Given the description of an element on the screen output the (x, y) to click on. 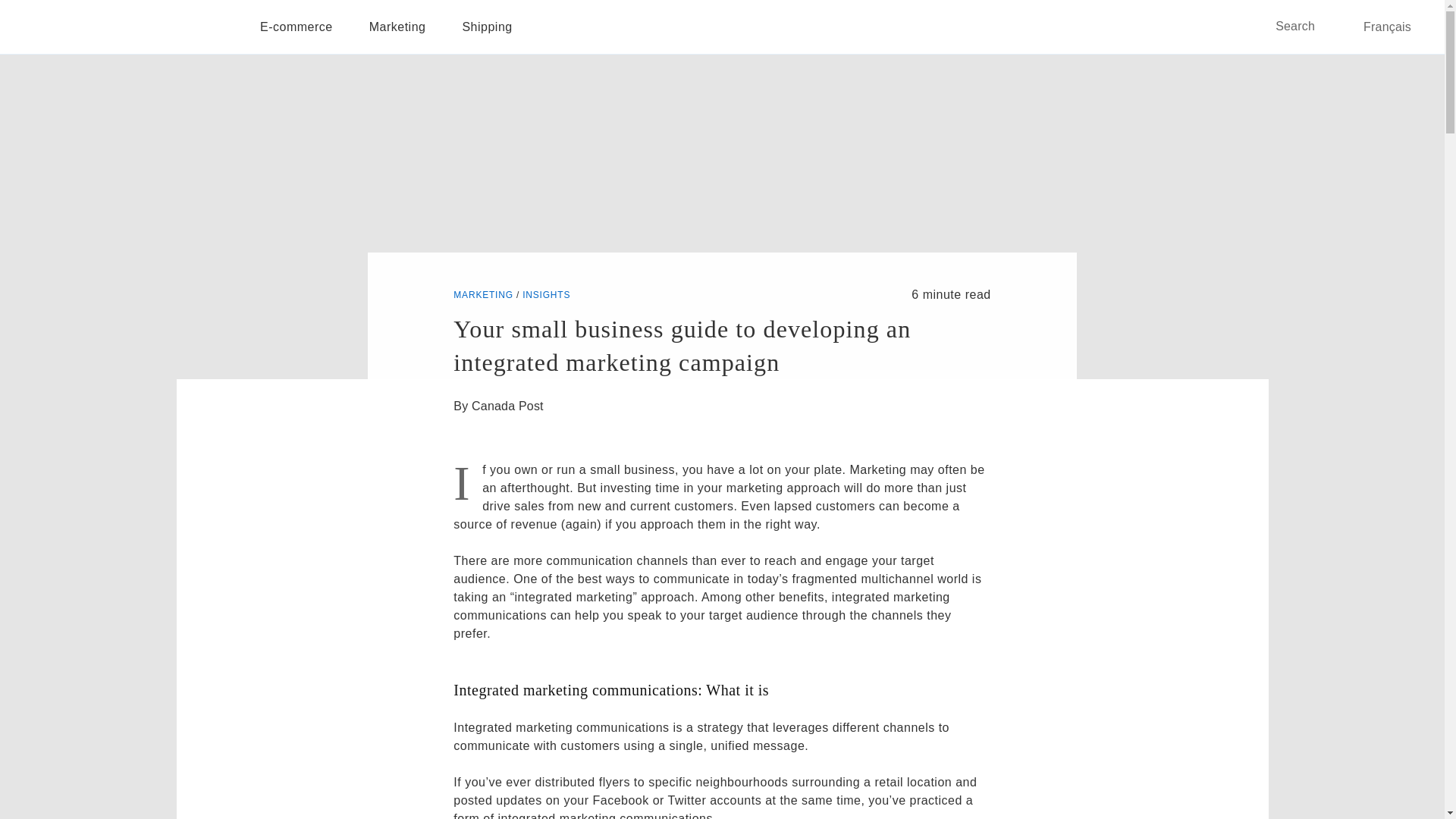
MARKETING (482, 294)
Shipping (486, 27)
Marketing (397, 27)
E-commerce (295, 27)
Search (1305, 26)
INSIGHTS (546, 294)
